Given the description of an element on the screen output the (x, y) to click on. 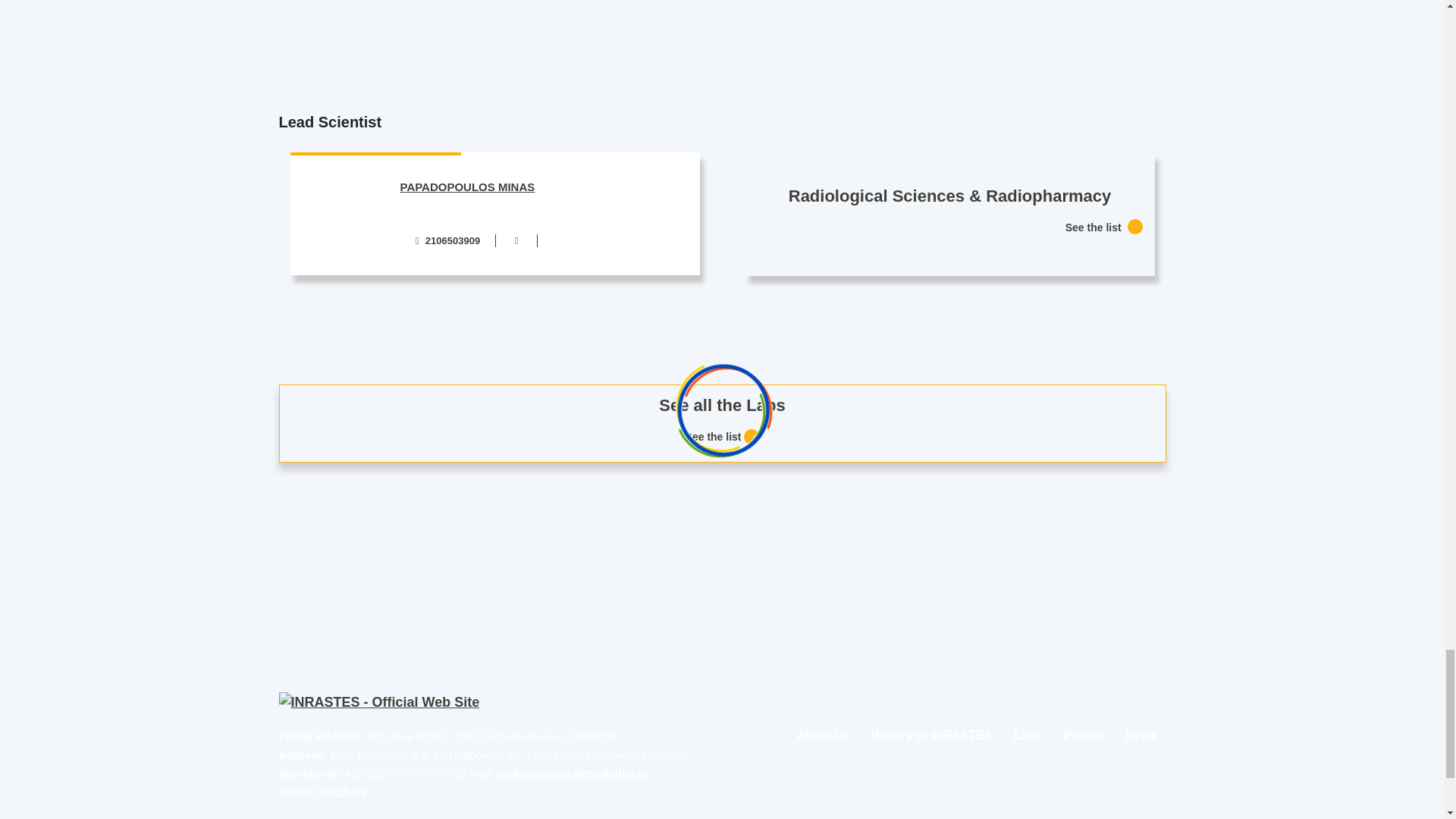
PAPADOPOULOS MINAS (467, 186)
2106503909 (447, 240)
See the list (1102, 227)
How to reach us (322, 790)
See the list (722, 436)
